Given the description of an element on the screen output the (x, y) to click on. 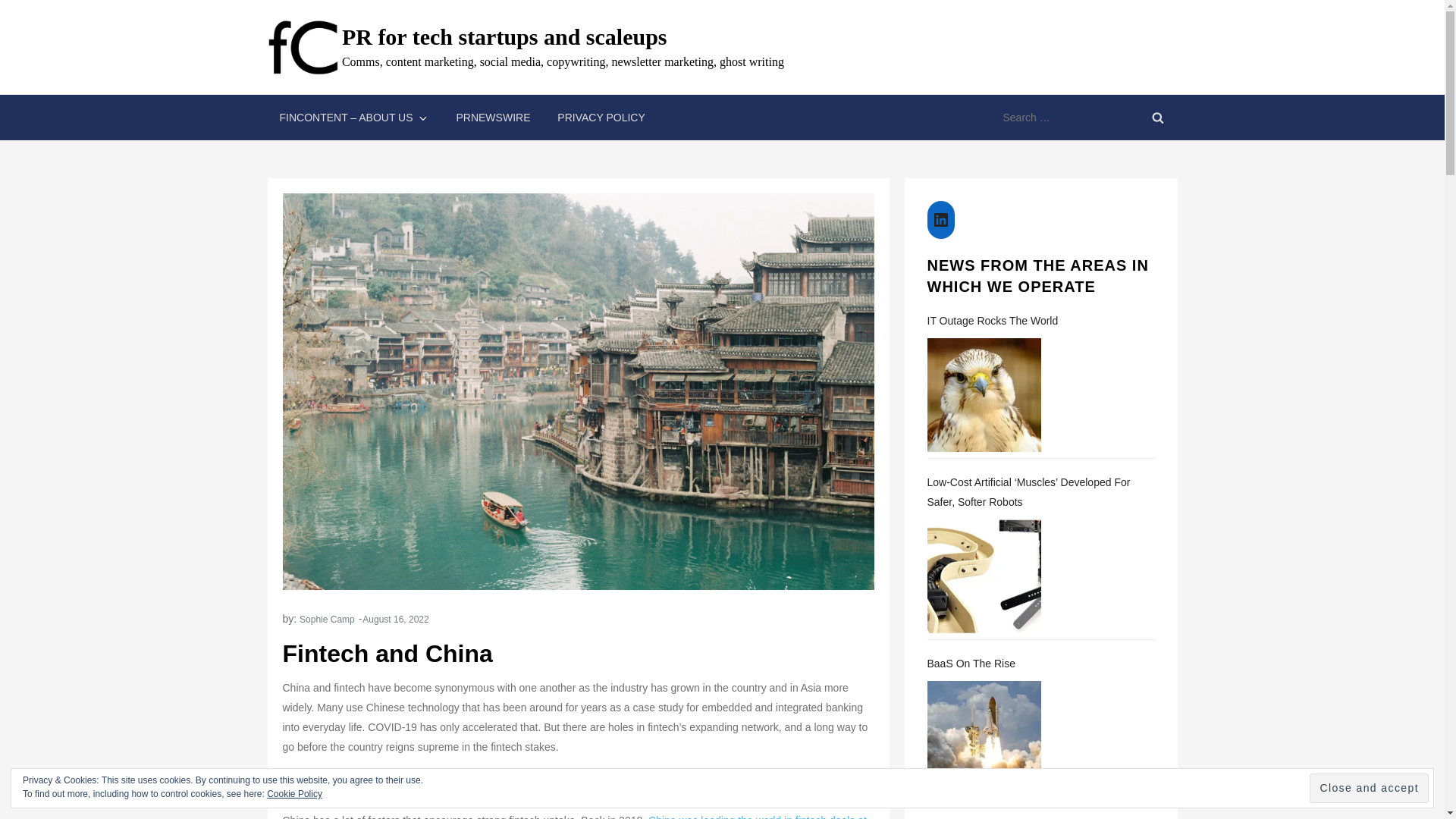
IT Outage Rocks The World (1040, 320)
BaaS on the rise (983, 737)
Sophie Camp (327, 619)
LinkedIn (939, 219)
PRNEWSWIRE (492, 117)
August 16, 2022 (395, 619)
PRIVACY POLICY (600, 117)
IT outage rocks the world (983, 395)
Close and accept (1368, 788)
PR for tech startups and scaleups (504, 36)
